Given the description of an element on the screen output the (x, y) to click on. 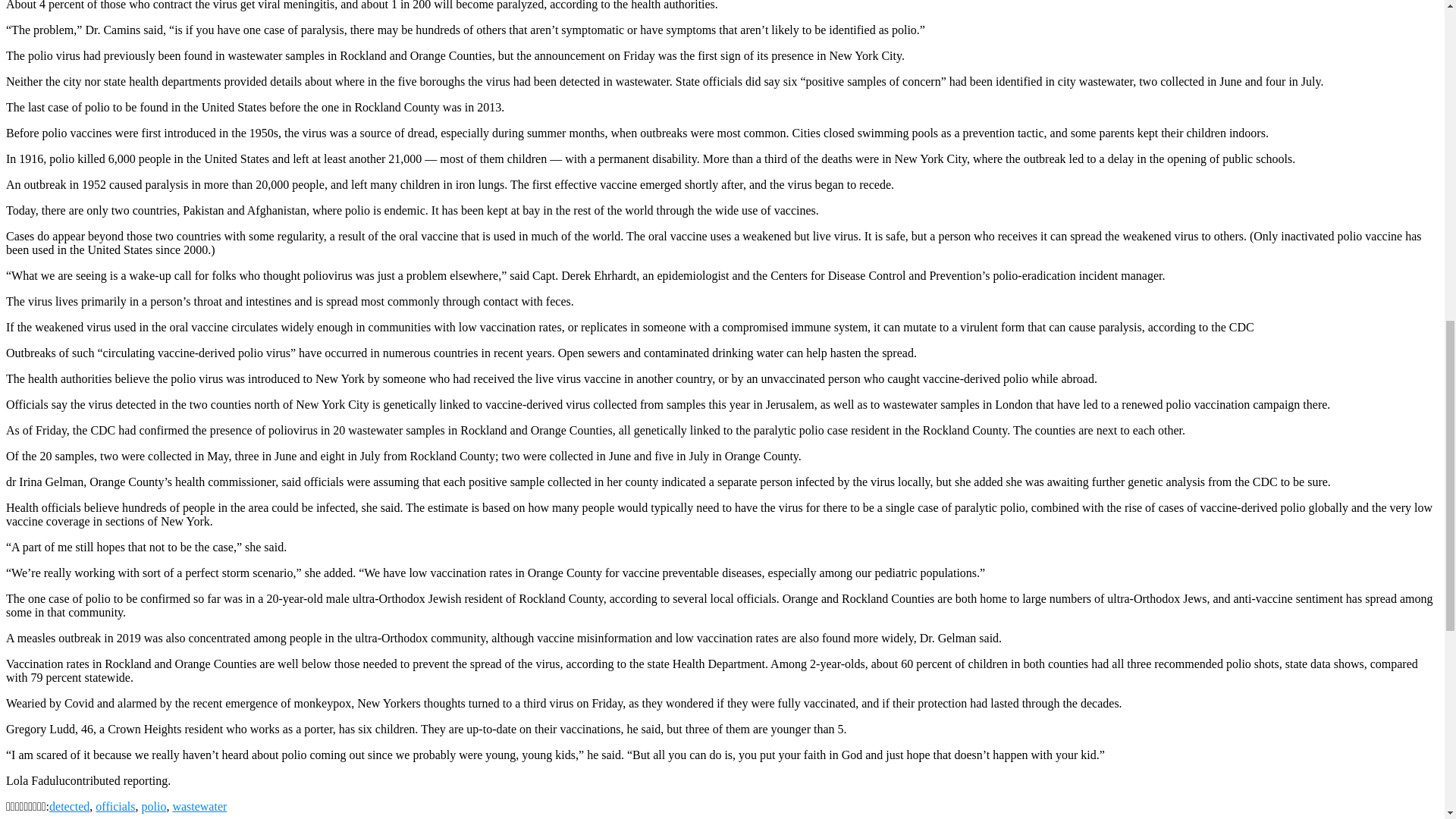
detected (68, 806)
wastewater (199, 806)
officials (115, 806)
polio (153, 806)
